Given the description of an element on the screen output the (x, y) to click on. 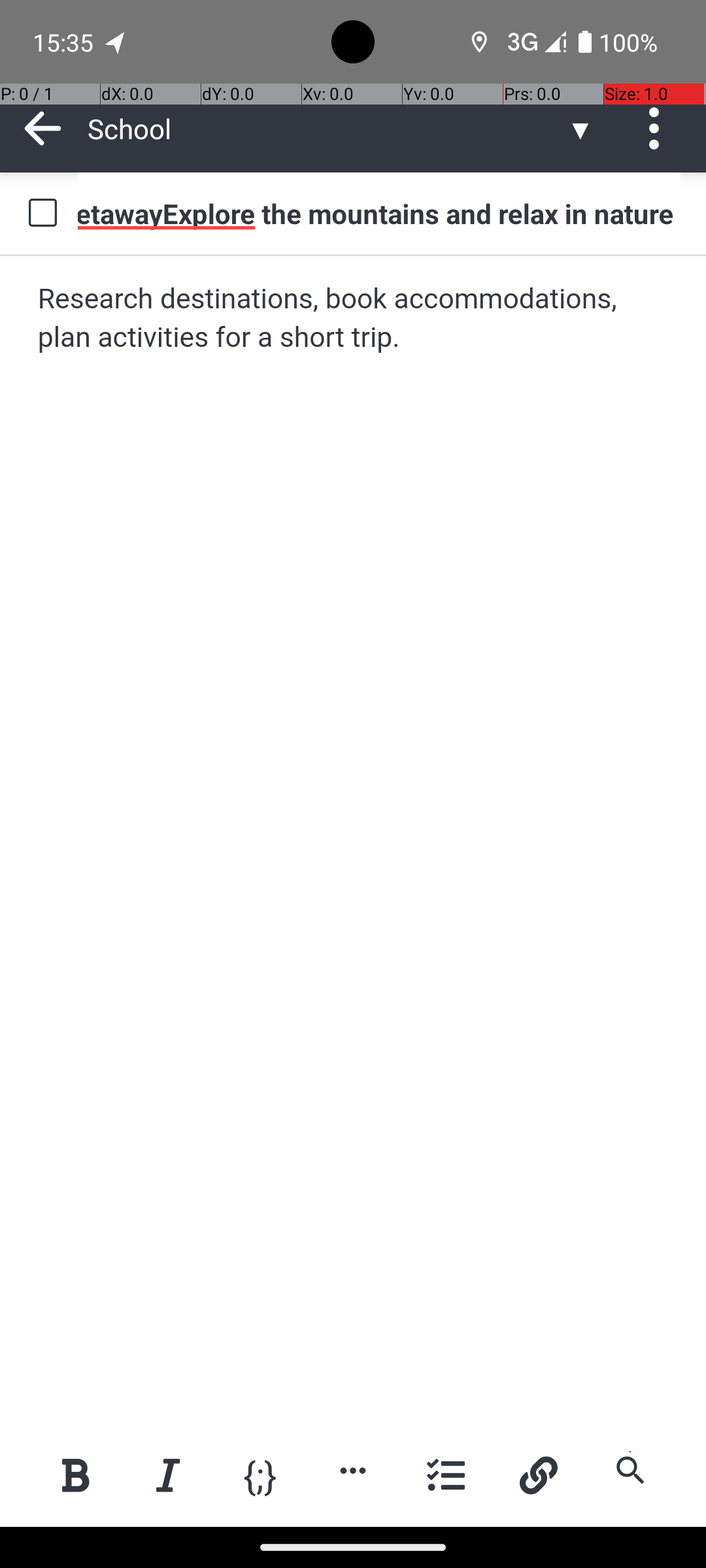
Plan Weekend GetawayExplore the mountains and relax in nature Element type: android.widget.EditText (378, 213)
School Element type: android.widget.TextView (326, 128)
Research destinations, book accommodations, plan activities for a short trip. Element type: android.widget.EditText (354, 318)
